Given the description of an element on the screen output the (x, y) to click on. 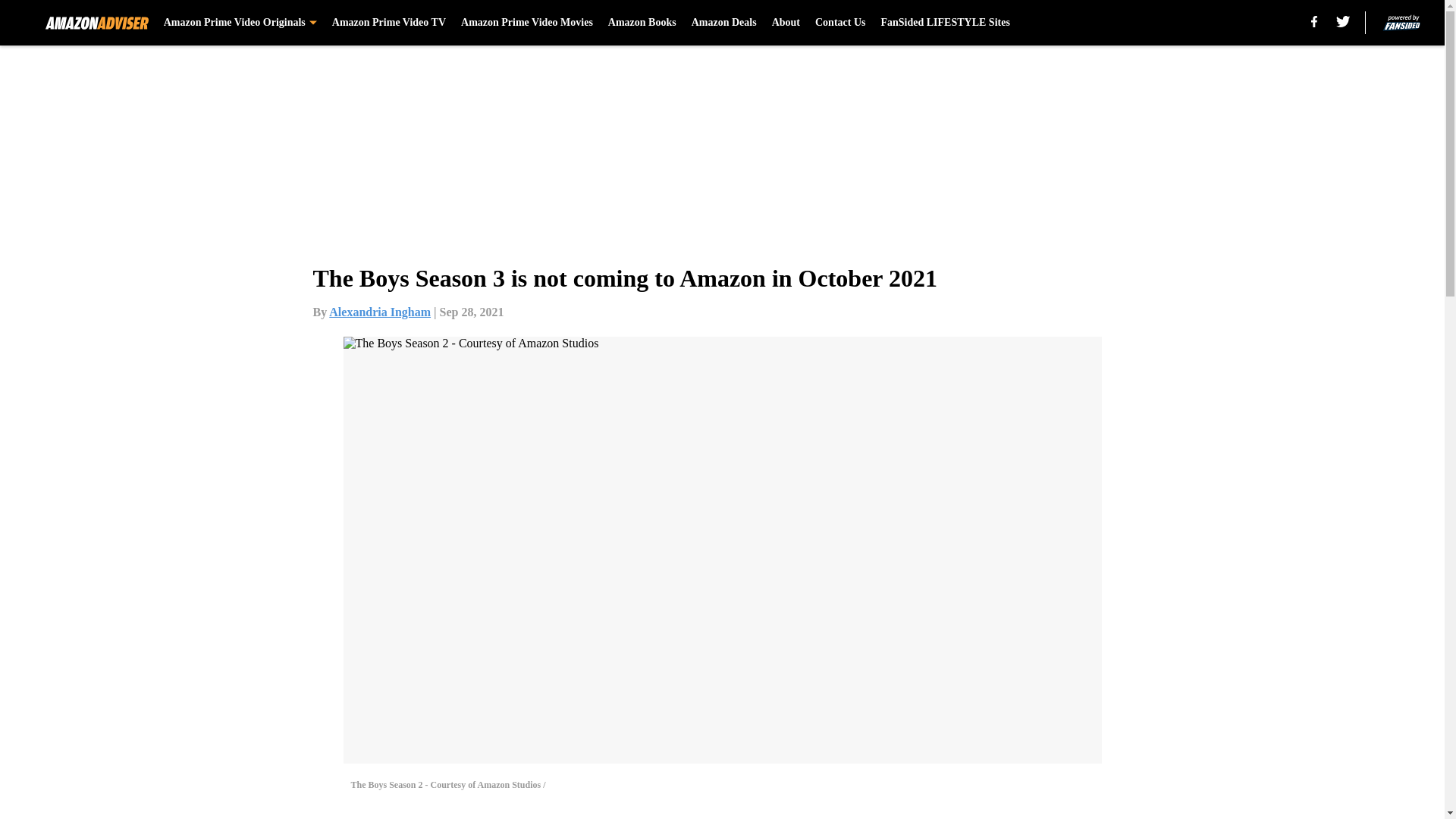
FanSided LIFESTYLE Sites (944, 22)
Amazon Prime Video TV (388, 22)
Amazon Books (642, 22)
Alexandria Ingham (379, 311)
Amazon Deals (724, 22)
About (785, 22)
Contact Us (840, 22)
Amazon Prime Video Movies (526, 22)
